Given the description of an element on the screen output the (x, y) to click on. 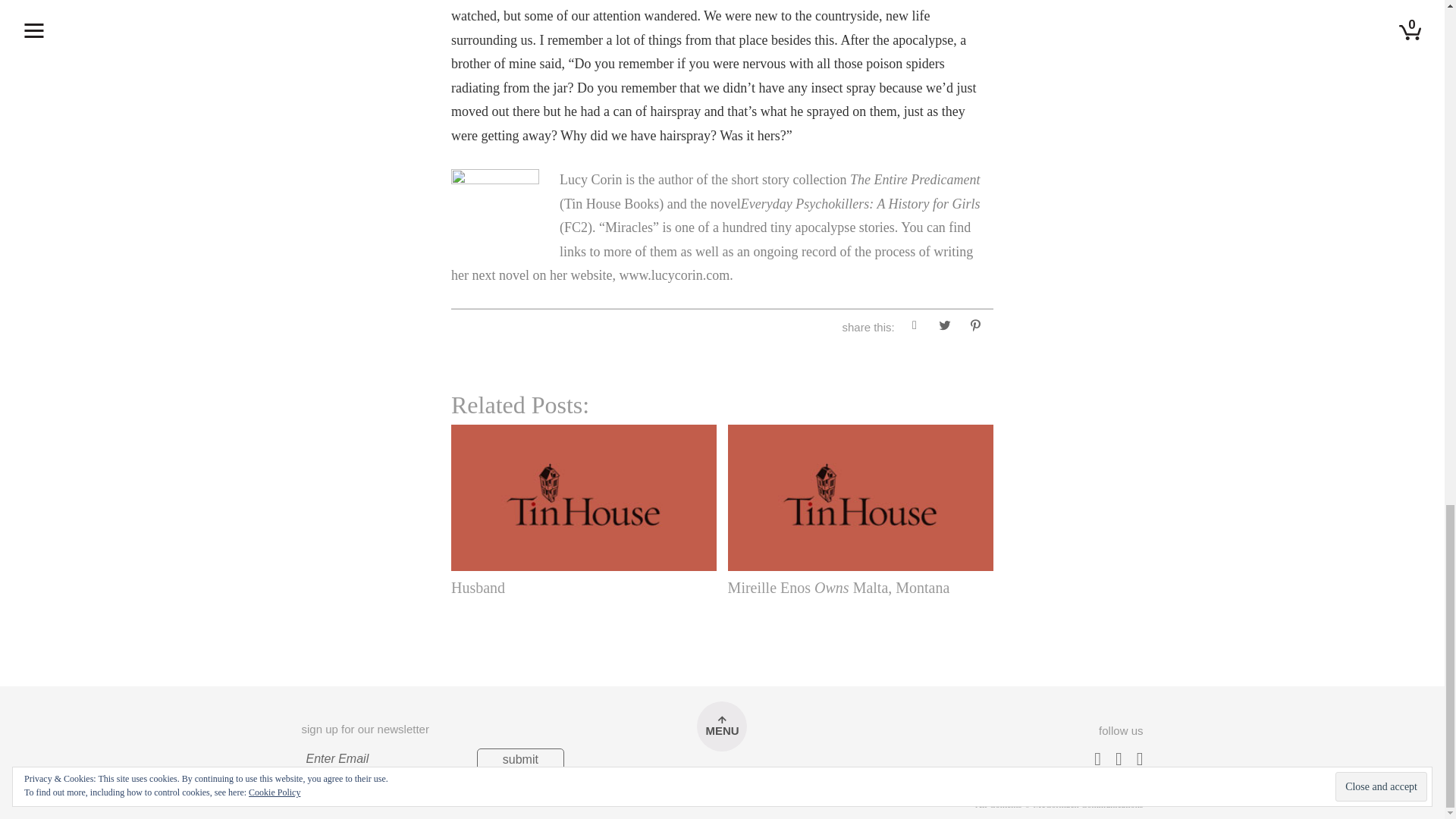
Created with Sketch. (721, 789)
Submit (520, 759)
Click to share on Twitter (944, 327)
Click to share on Pinterest (974, 327)
Click to share on Facebook (914, 327)
Lucy-Corin (494, 212)
